Given the description of an element on the screen output the (x, y) to click on. 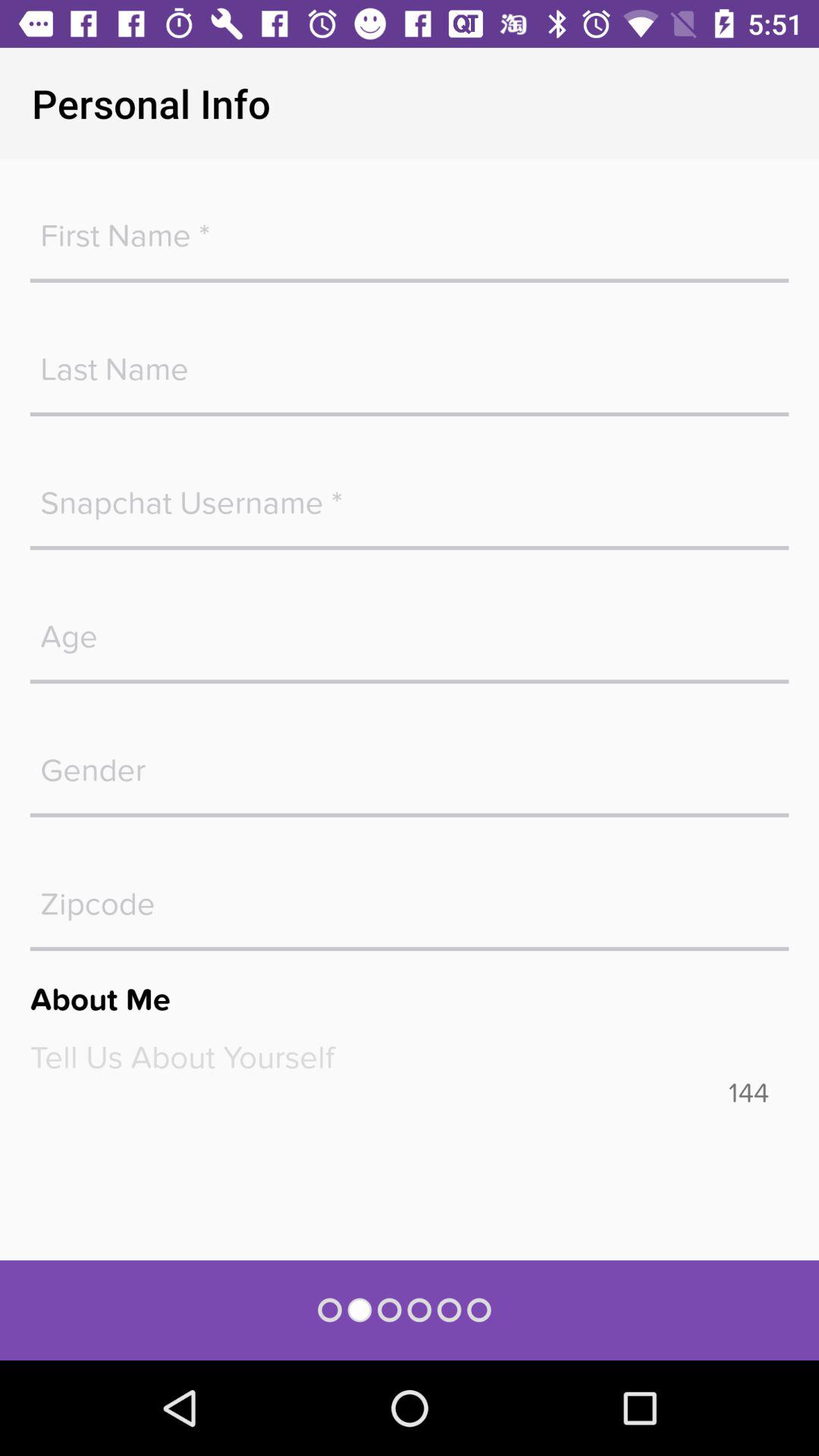
enter snapchat username (409, 495)
